Given the description of an element on the screen output the (x, y) to click on. 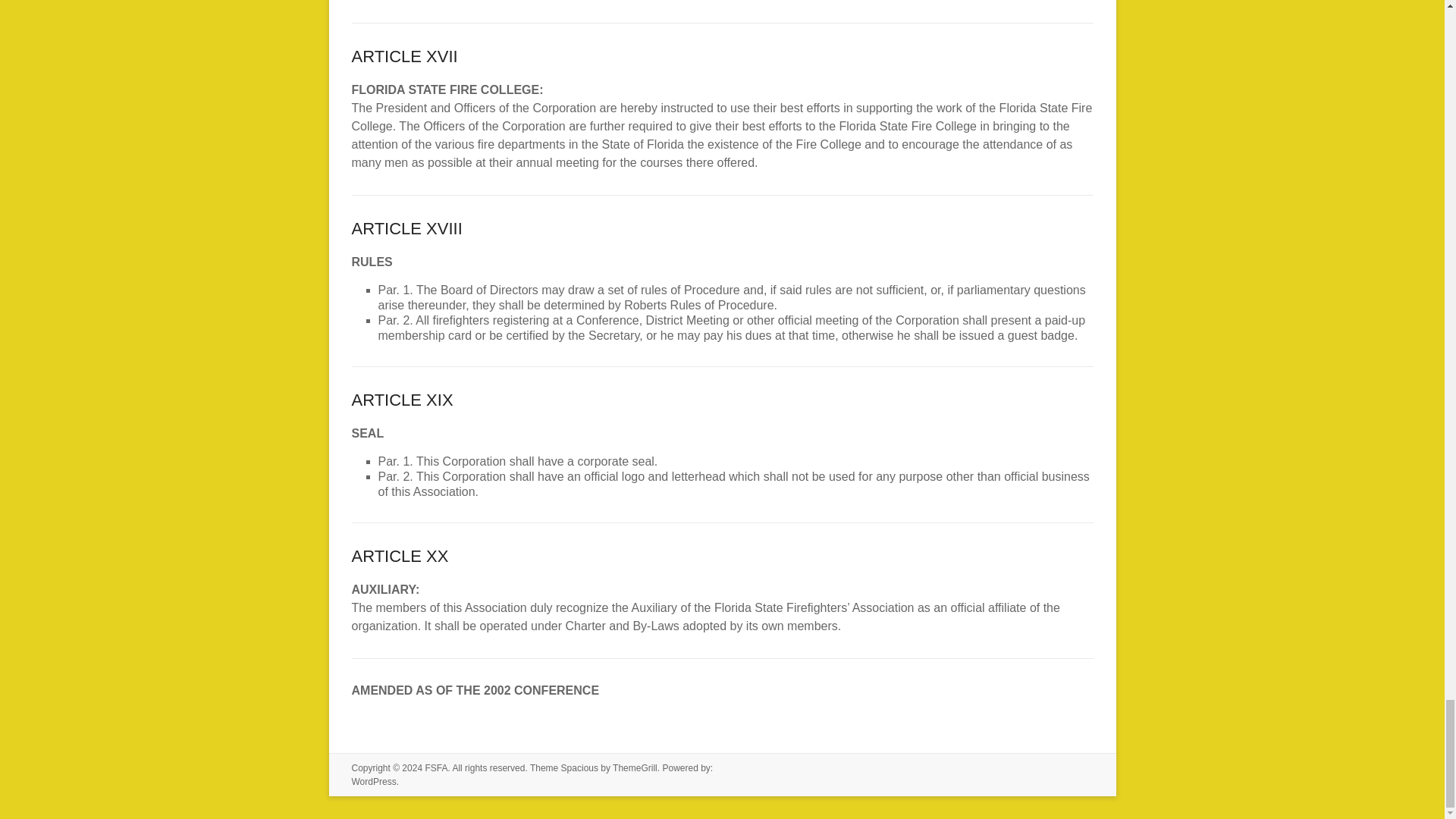
WordPress (374, 781)
FSFA (435, 767)
Spacious (579, 767)
